Given the description of an element on the screen output the (x, y) to click on. 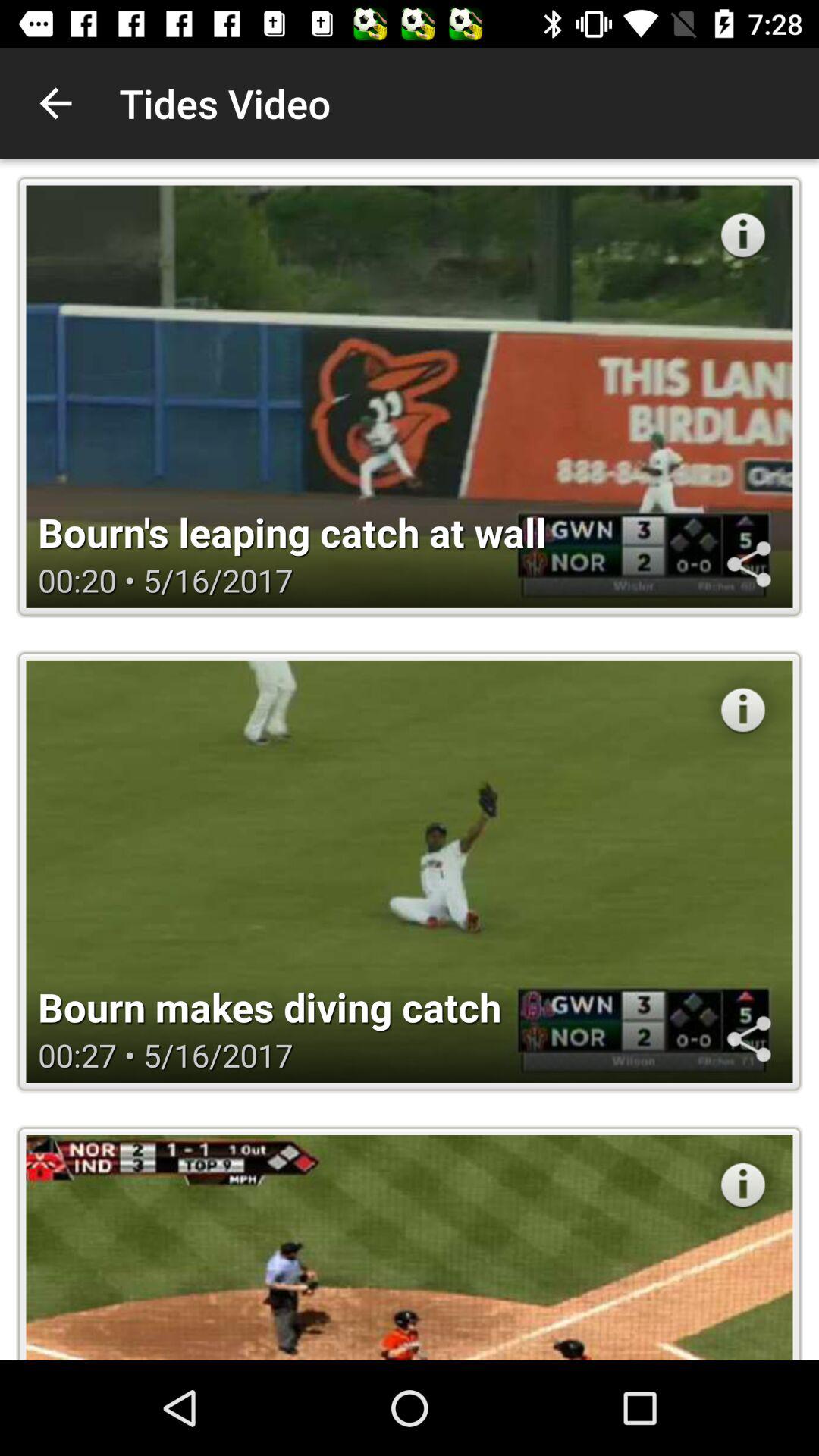
click on the information symbol (742, 709)
